Given the description of an element on the screen output the (x, y) to click on. 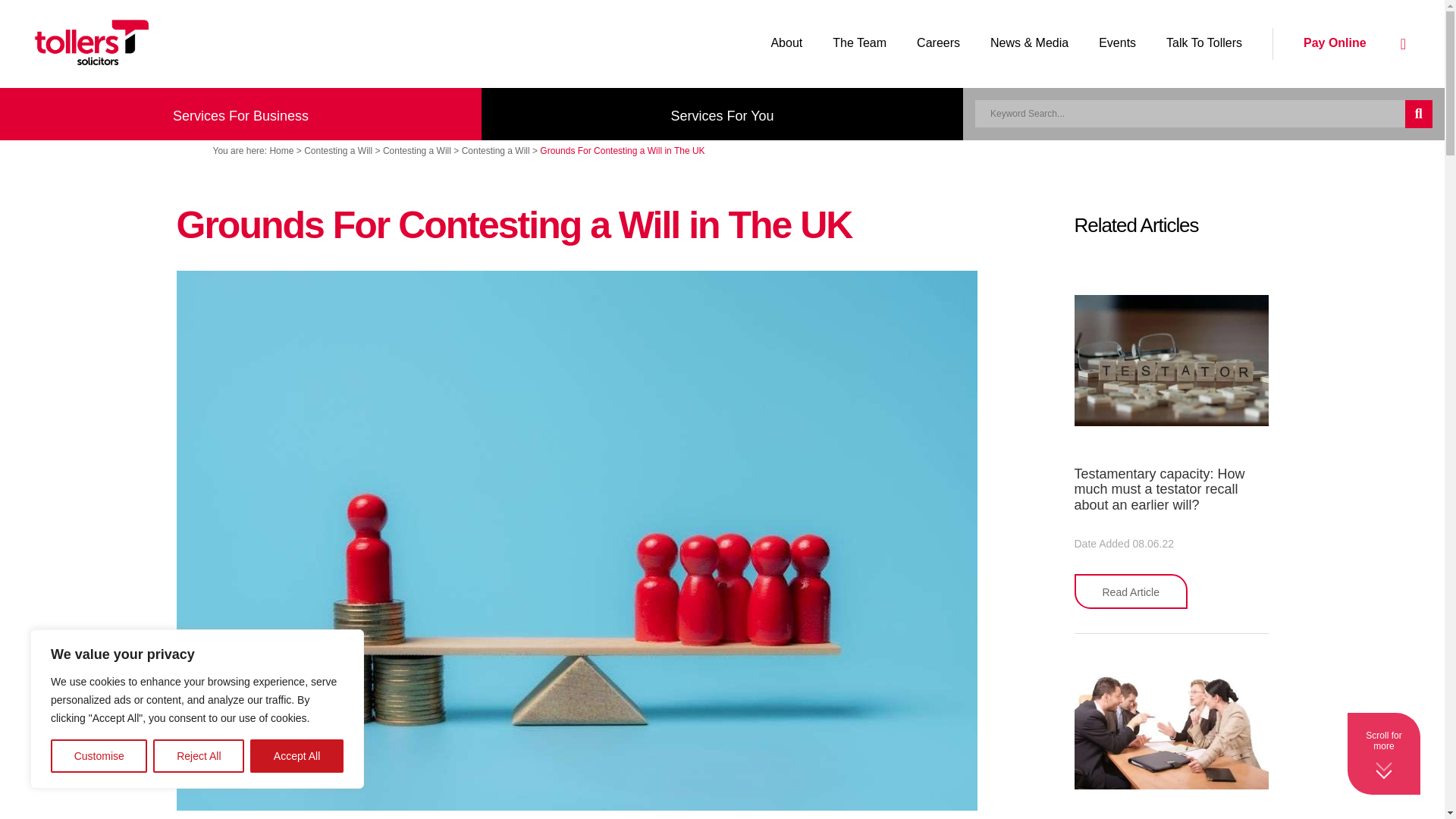
Events (1117, 42)
Submit Search (1418, 113)
Contact Tollers (1403, 44)
Talk To Tollers (1204, 42)
Services For Business (240, 113)
The Team (858, 42)
Services For You (721, 113)
Pay Online (1334, 42)
Reject All (198, 756)
About (785, 42)
Customise (98, 756)
Careers (938, 42)
Accept All (296, 756)
